Given the description of an element on the screen output the (x, y) to click on. 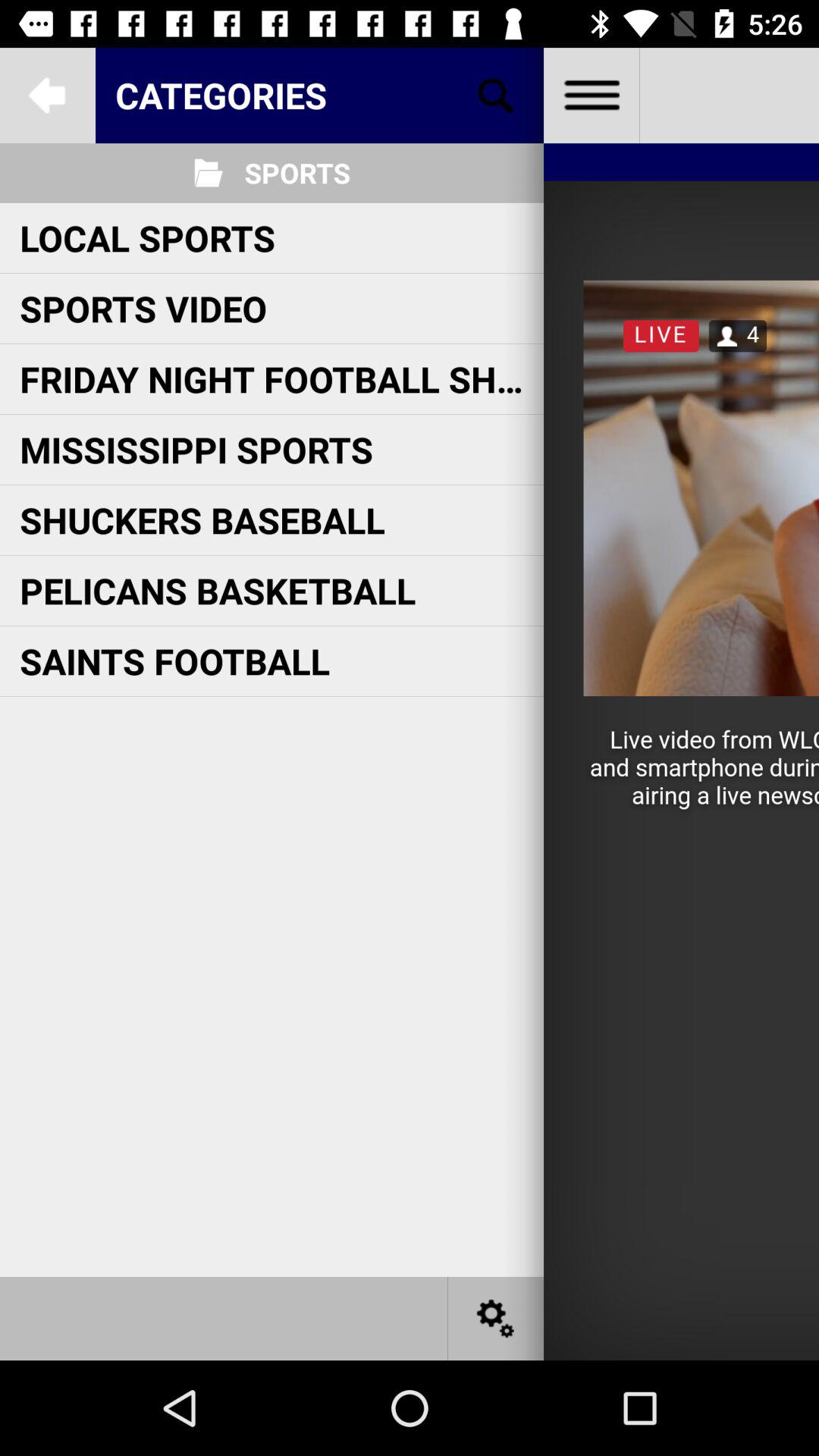
select search button on page (495, 95)
